Given the description of an element on the screen output the (x, y) to click on. 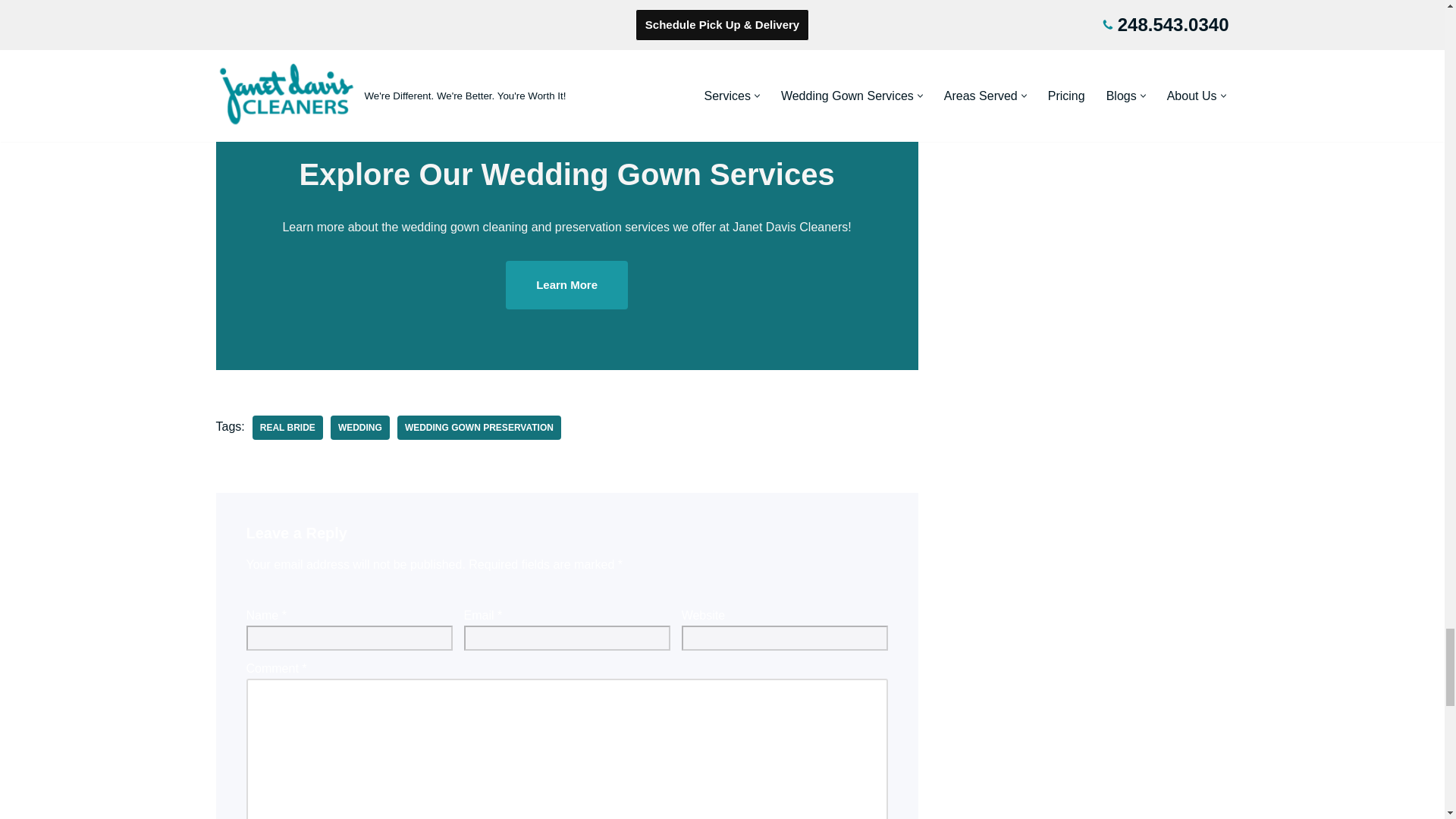
Wedding (360, 427)
Real Bride (287, 427)
